Given the description of an element on the screen output the (x, y) to click on. 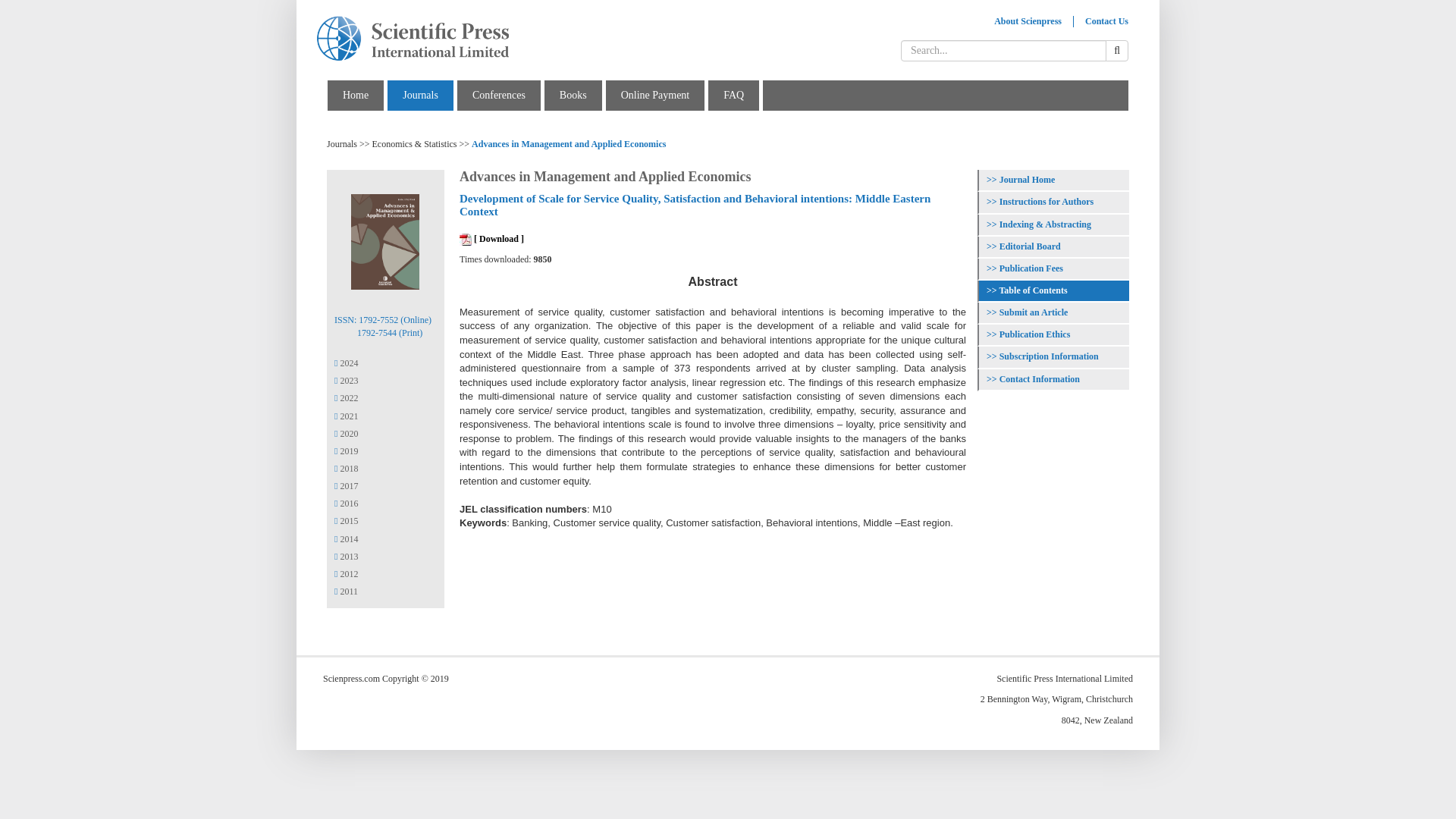
2022 (346, 398)
Contact Us (1107, 21)
Home (355, 94)
Online Payment (655, 94)
FAQ (733, 94)
Conferences (498, 94)
2023 (346, 380)
Books (572, 94)
2024 (346, 362)
About Scienpress (1027, 21)
